Given the description of an element on the screen output the (x, y) to click on. 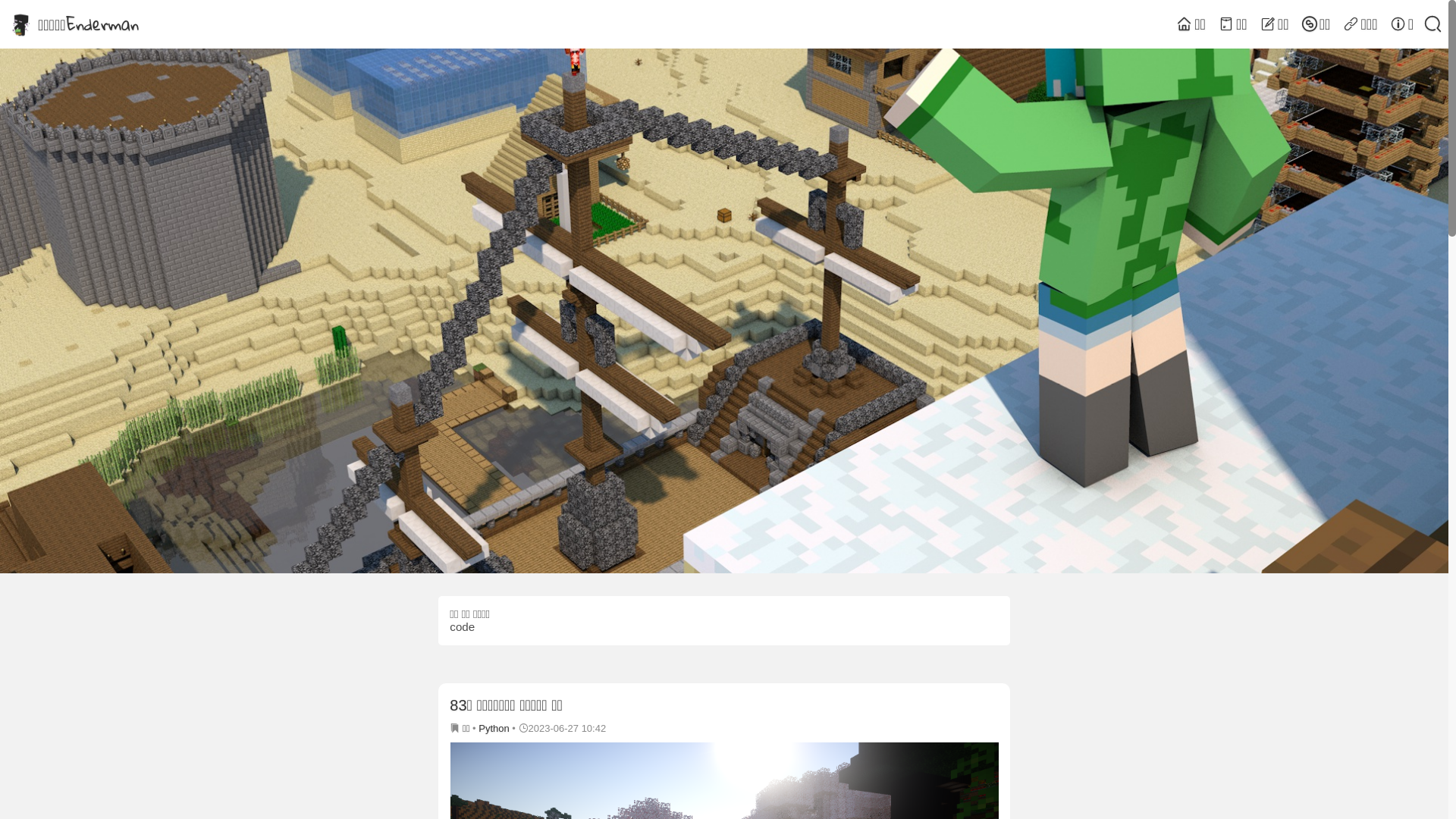
Python Element type: text (493, 728)
